Given the description of an element on the screen output the (x, y) to click on. 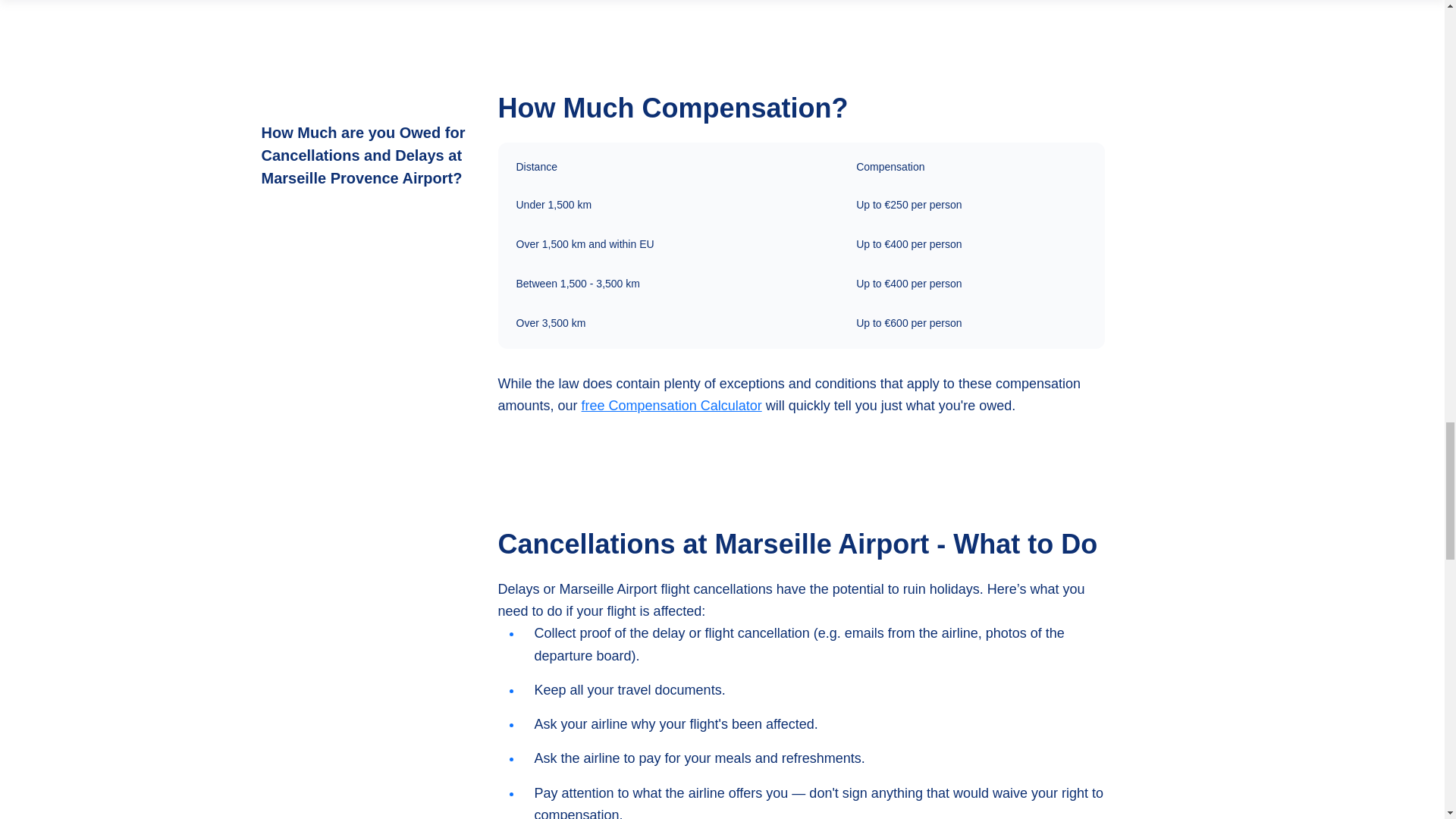
free Compensation Calculator (670, 405)
